Given the description of an element on the screen output the (x, y) to click on. 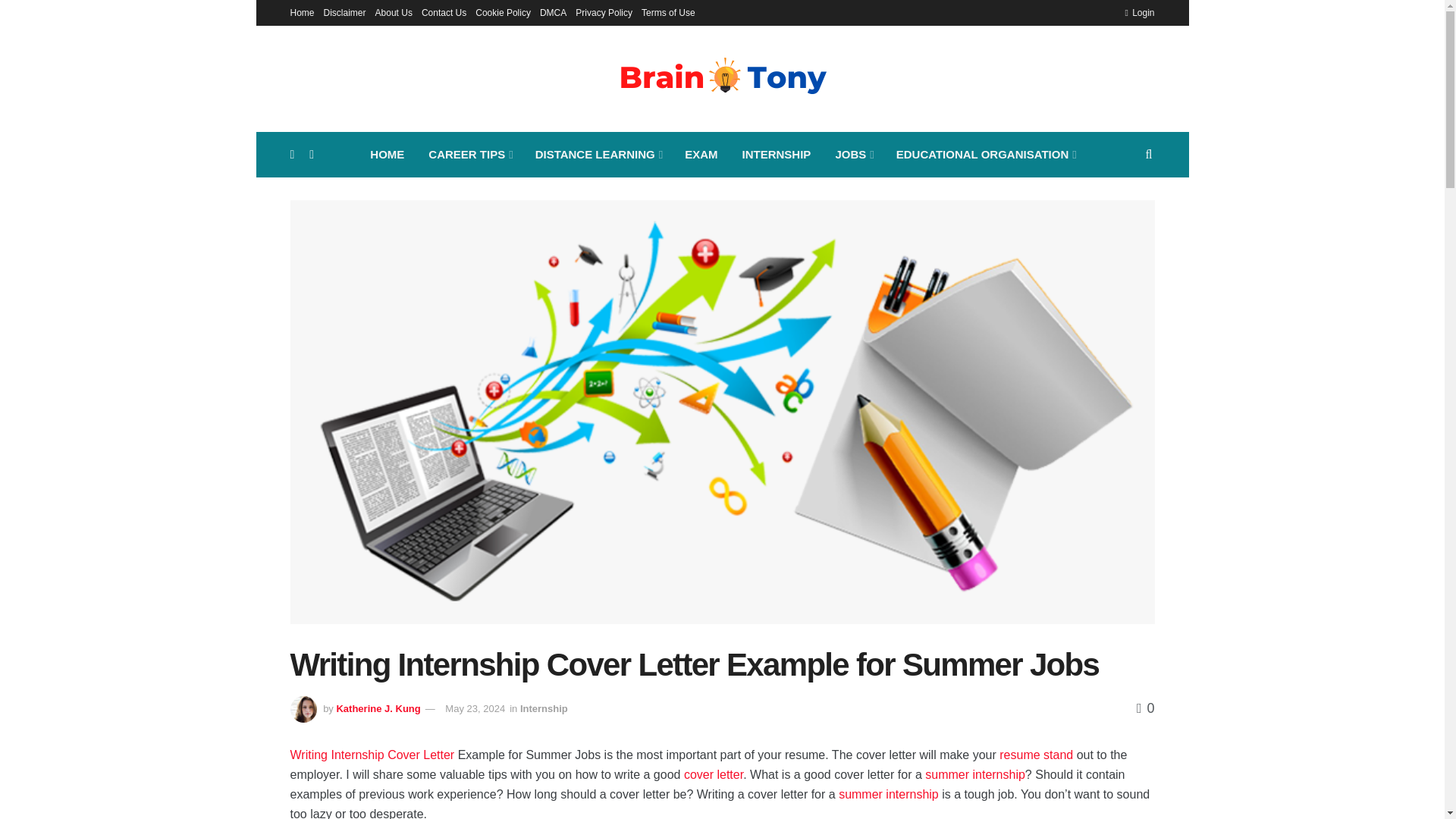
HOME (387, 154)
EXAM (700, 154)
DMCA (553, 12)
CAREER TIPS (469, 154)
INTERNSHIP (777, 154)
Login (1139, 12)
EDUCATIONAL ORGANISATION (984, 154)
Privacy Policy (603, 12)
About Us (393, 12)
Contact Us (443, 12)
Disclaimer (344, 12)
JOBS (852, 154)
Cookie Policy (503, 12)
Home (301, 12)
